Given the description of an element on the screen output the (x, y) to click on. 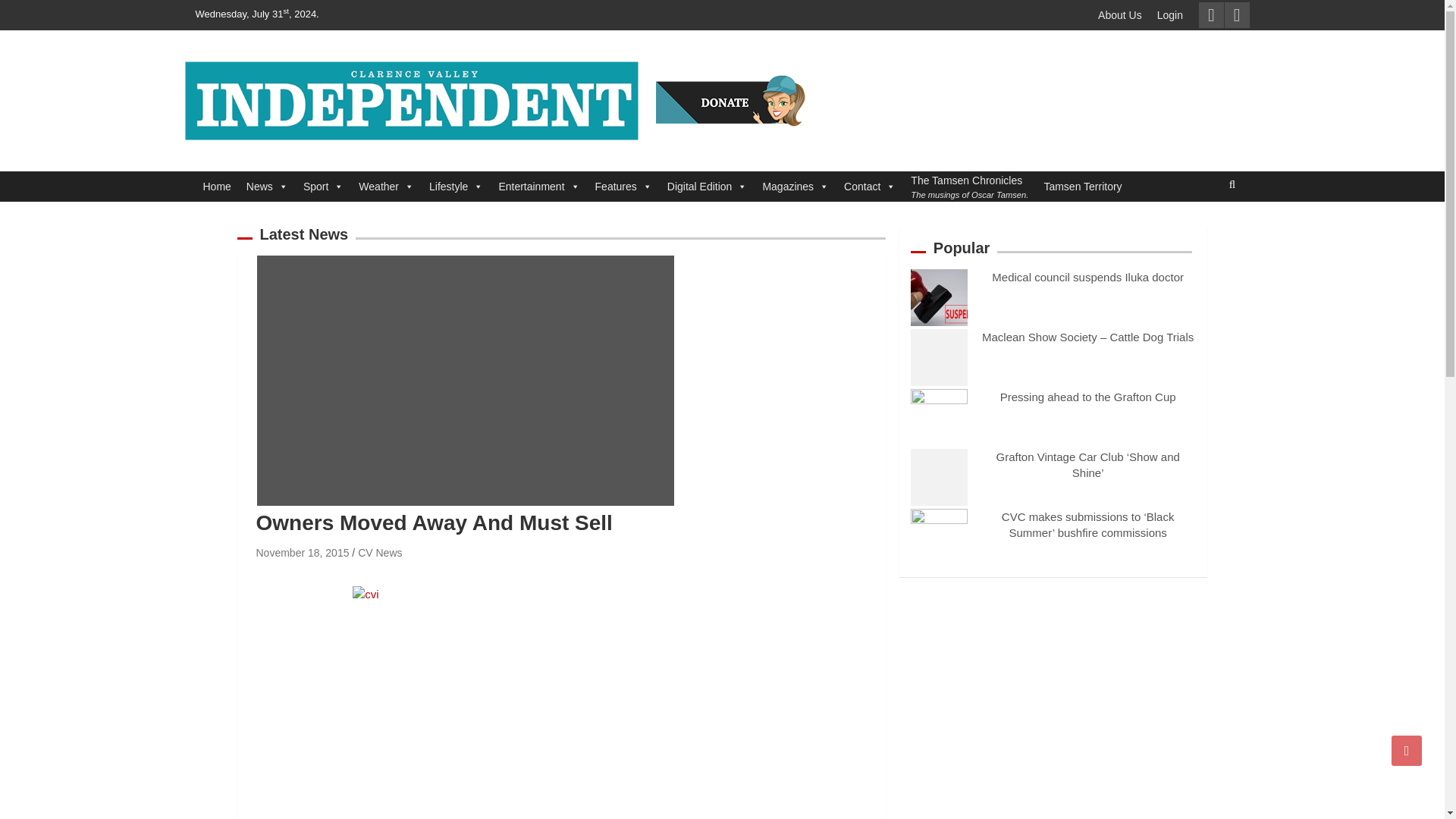
News (266, 186)
Clarence Valley Independent (388, 160)
Home (216, 186)
Owners Moved Away And Must Sell (302, 552)
Lifestyle (456, 186)
Login (1170, 15)
Weather (386, 186)
About Us (1120, 15)
Features (623, 186)
Entertainment (538, 186)
Go to Top (1406, 750)
Sport (322, 186)
